Given the description of an element on the screen output the (x, y) to click on. 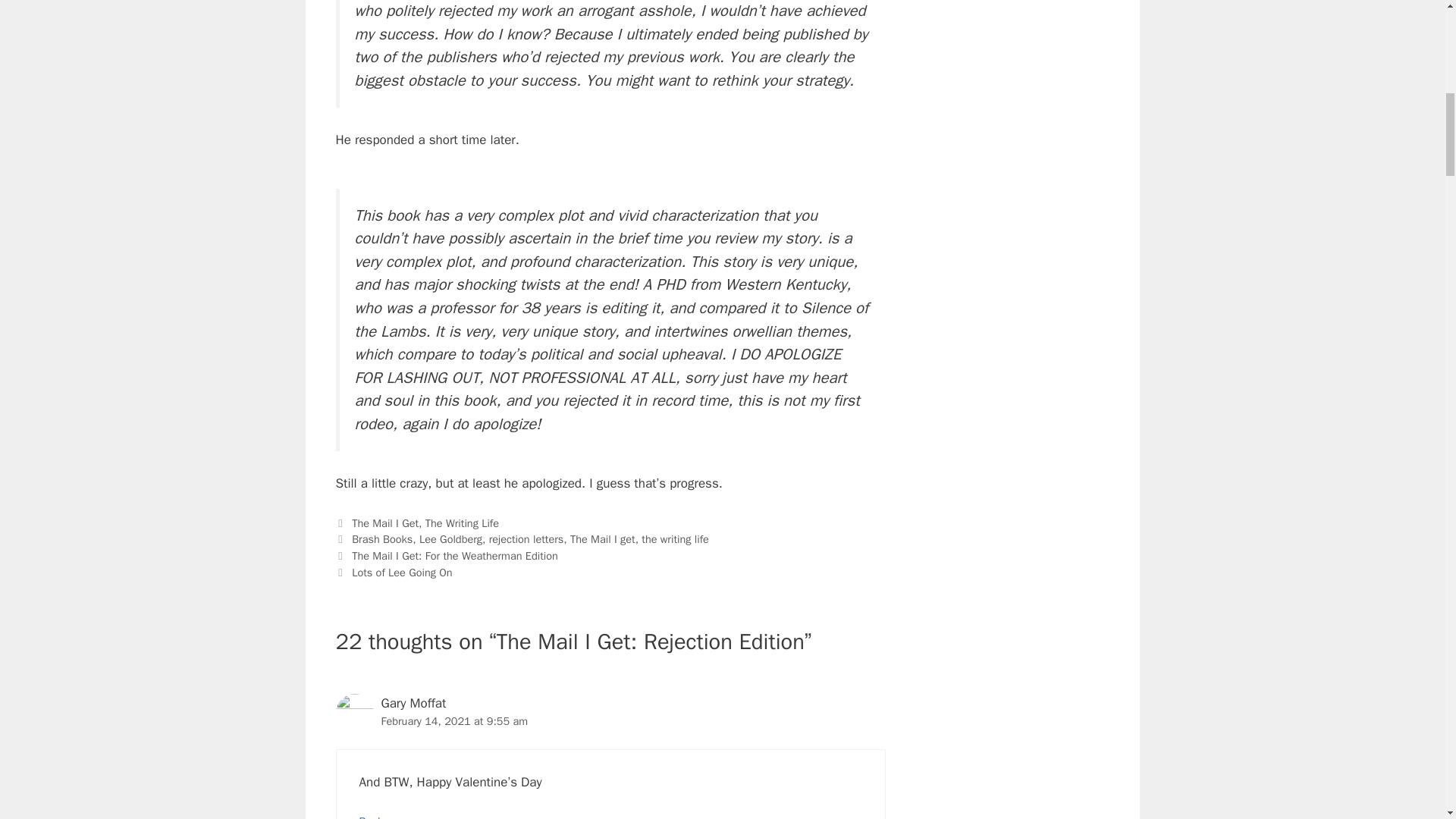
Brash Books (382, 539)
The Writing Life (462, 522)
The Mail I Get (385, 522)
